Given the description of an element on the screen output the (x, y) to click on. 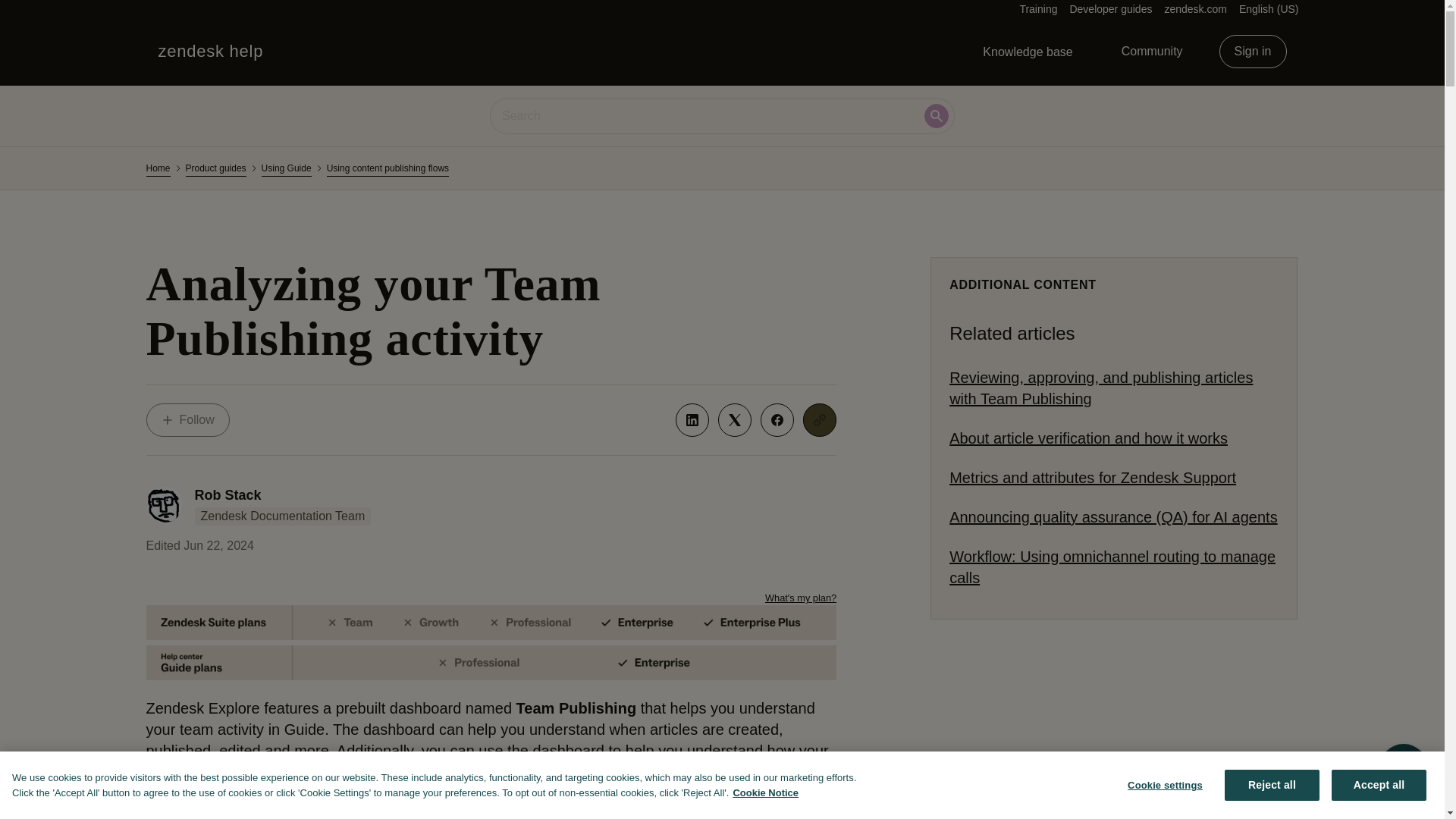
Community (1152, 51)
Using content publishing flows (387, 168)
Training (1038, 9)
What's my plan? (800, 597)
Rob Stack (226, 494)
Home (157, 168)
zendesk help (210, 51)
Product guides (216, 168)
zendesk.com (1194, 9)
Cloning Explore dashboards (460, 807)
Using Guide (286, 168)
Developer guides (186, 419)
Sign in (1109, 9)
